Given the description of an element on the screen output the (x, y) to click on. 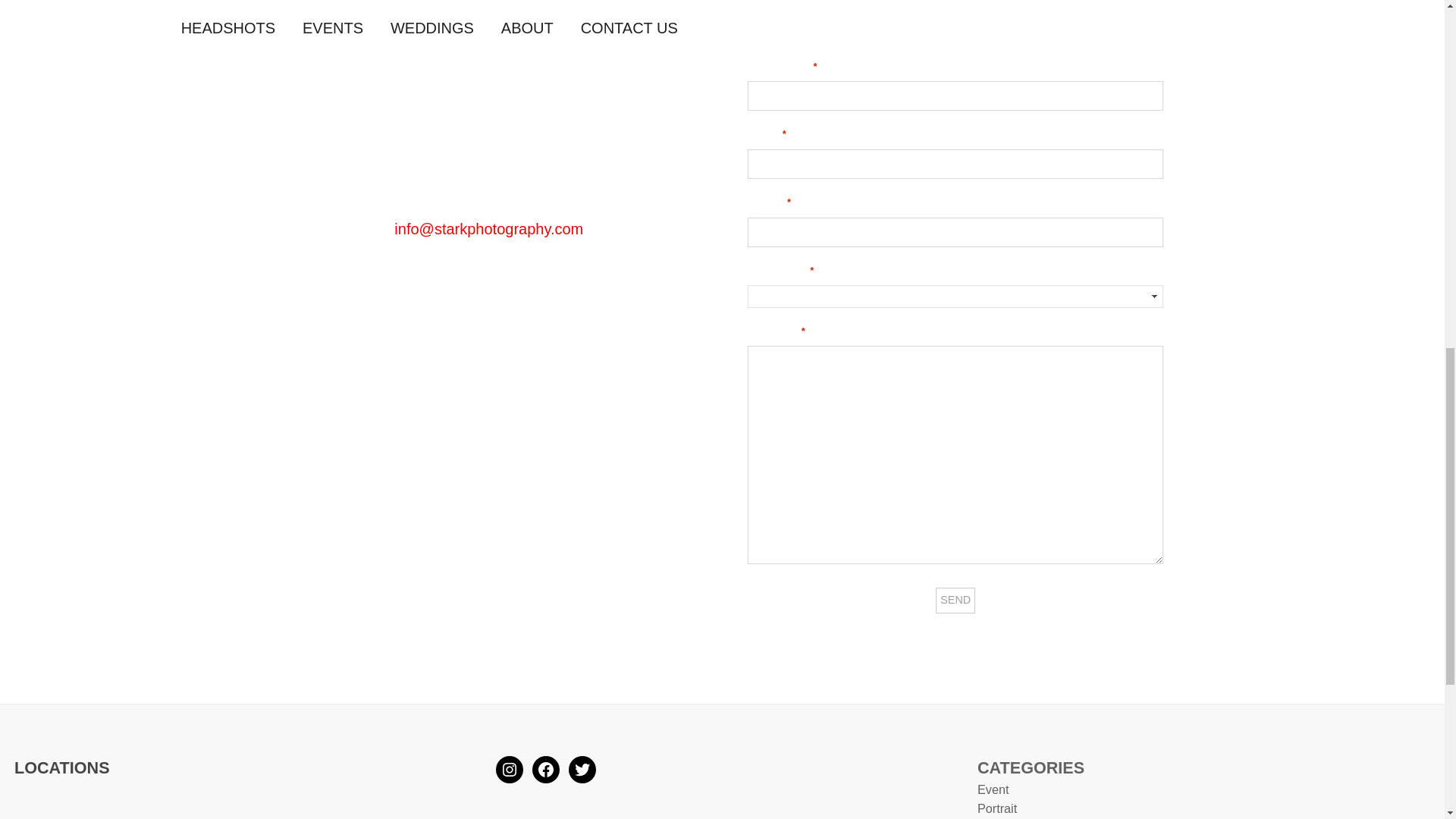
Instagram (509, 768)
Facebook (545, 768)
Send (955, 600)
Send (955, 600)
Portrait (996, 807)
Event (992, 789)
Twitter (582, 768)
